Given the description of an element on the screen output the (x, y) to click on. 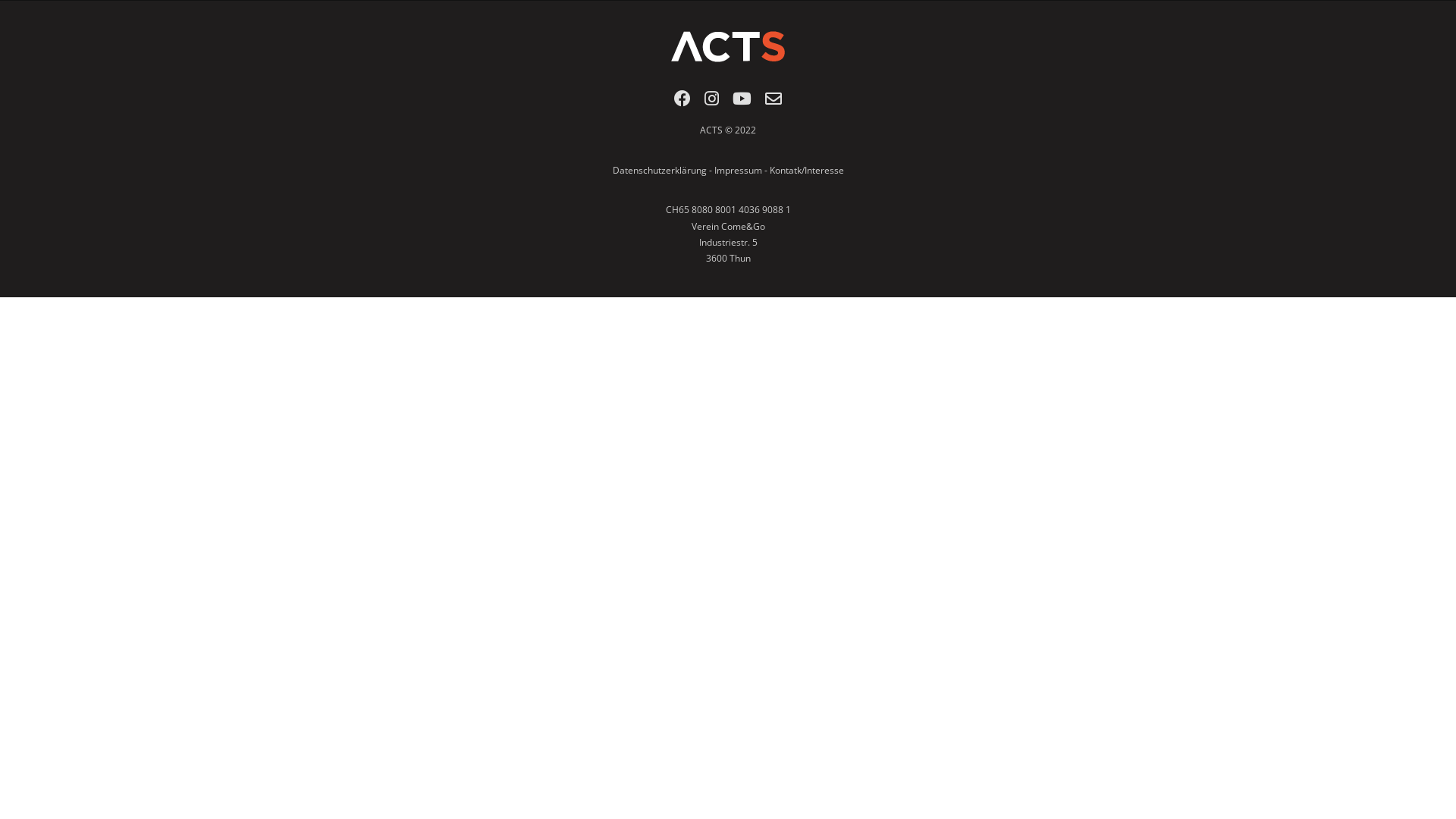
Youtube Element type: hover (741, 102)
Kontatk/Interesse Element type: text (805, 169)
Facebook Element type: hover (682, 102)
Instagram Element type: hover (711, 102)
Impressum Element type: text (738, 169)
email Element type: hover (773, 102)
